Given the description of an element on the screen output the (x, y) to click on. 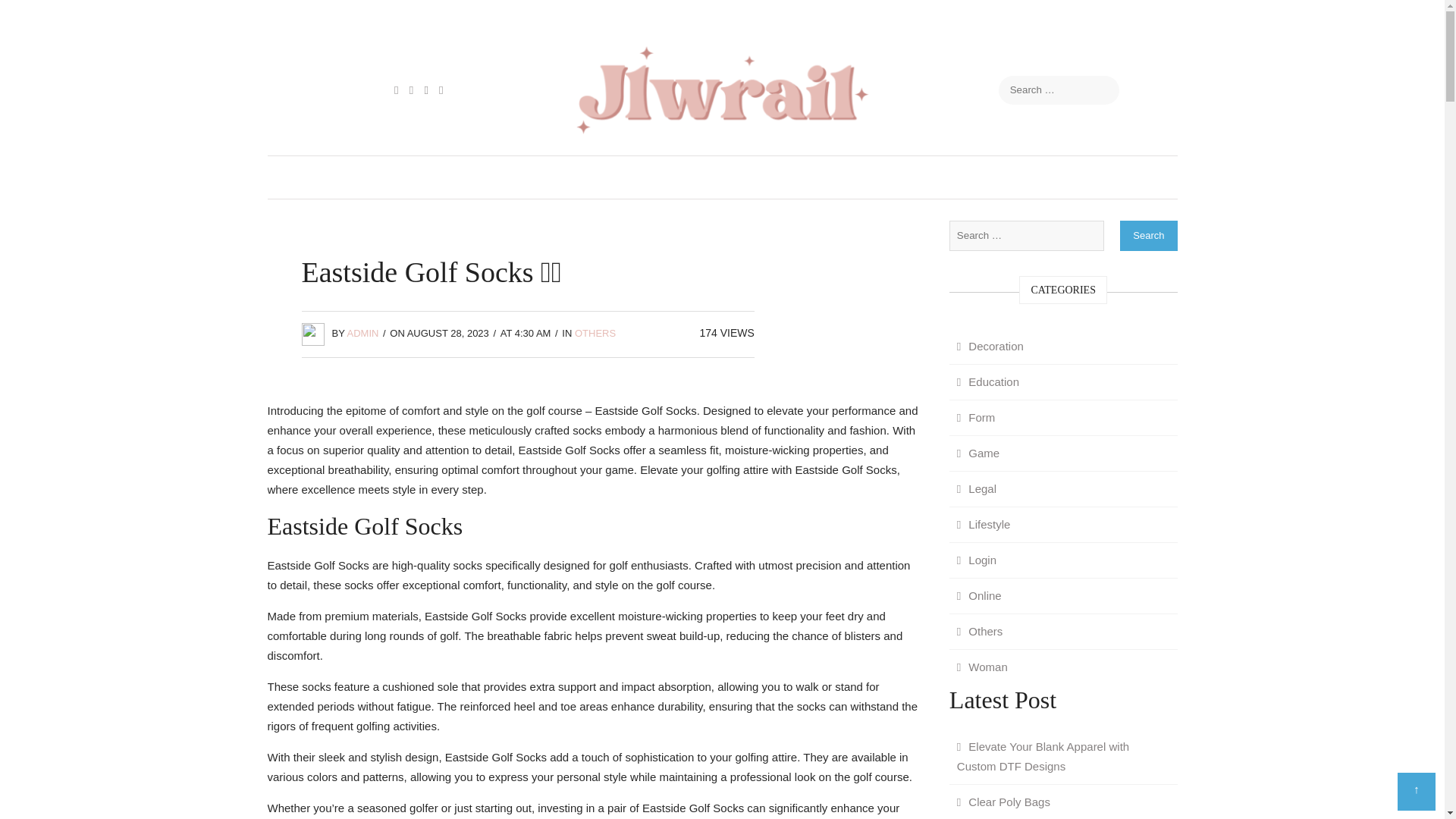
Decoration (989, 346)
Form (976, 417)
ADMIN (362, 333)
FORM (629, 177)
Posts by admin (362, 333)
LOGIN (935, 177)
FOOD (452, 177)
EDUCATION (367, 177)
Lifestyle (983, 524)
OTHERS (595, 333)
Legal (976, 488)
WOMAN (1087, 177)
Education (987, 381)
Search (1147, 235)
LIFESTYLE (852, 177)
